Given the description of an element on the screen output the (x, y) to click on. 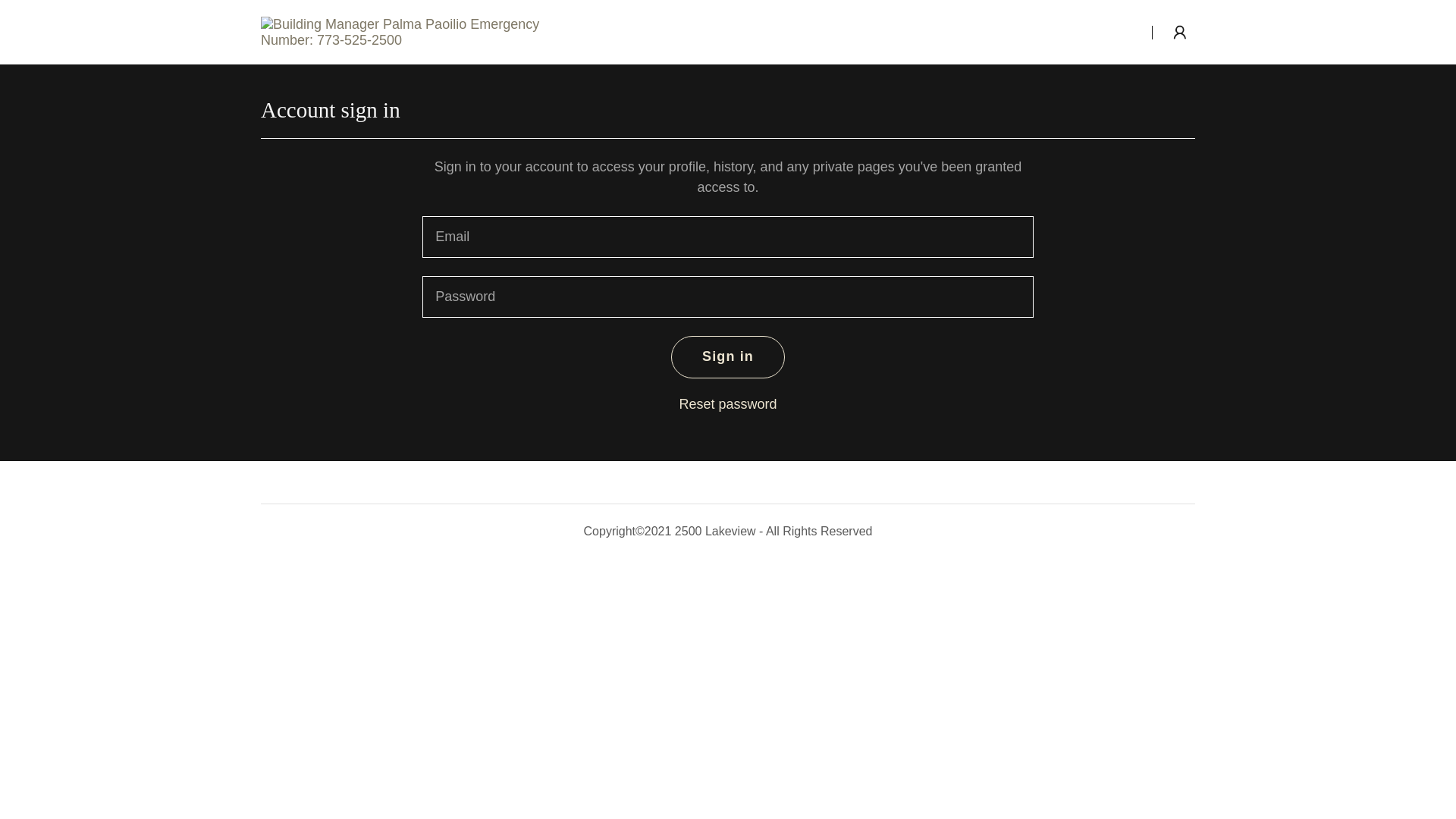
Reset password Element type: text (727, 403)
Sign in Element type: text (727, 356)
